Given the description of an element on the screen output the (x, y) to click on. 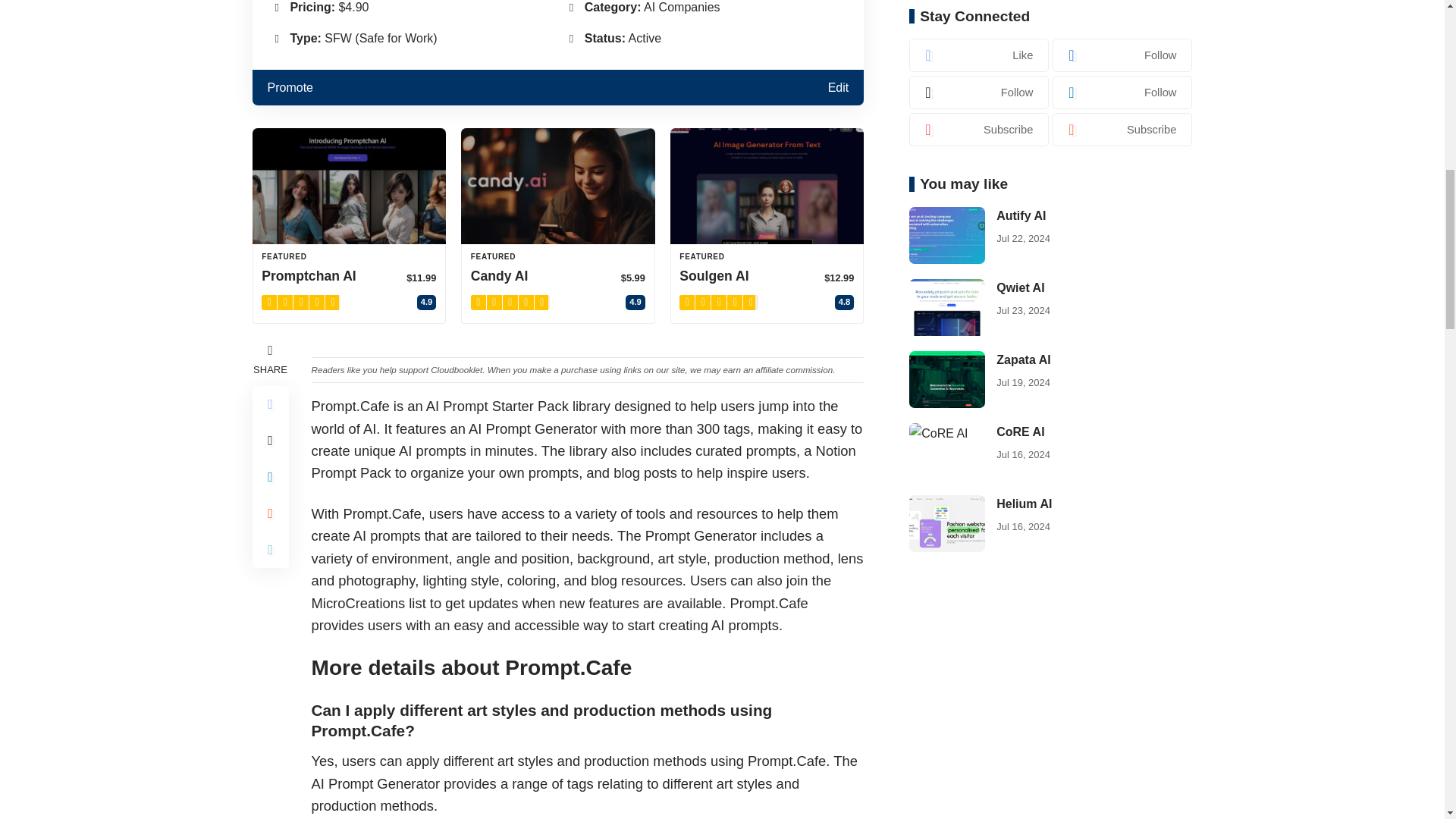
Soulgen AI (766, 185)
Promptchan AI (348, 185)
Candy AI (558, 185)
